Given the description of an element on the screen output the (x, y) to click on. 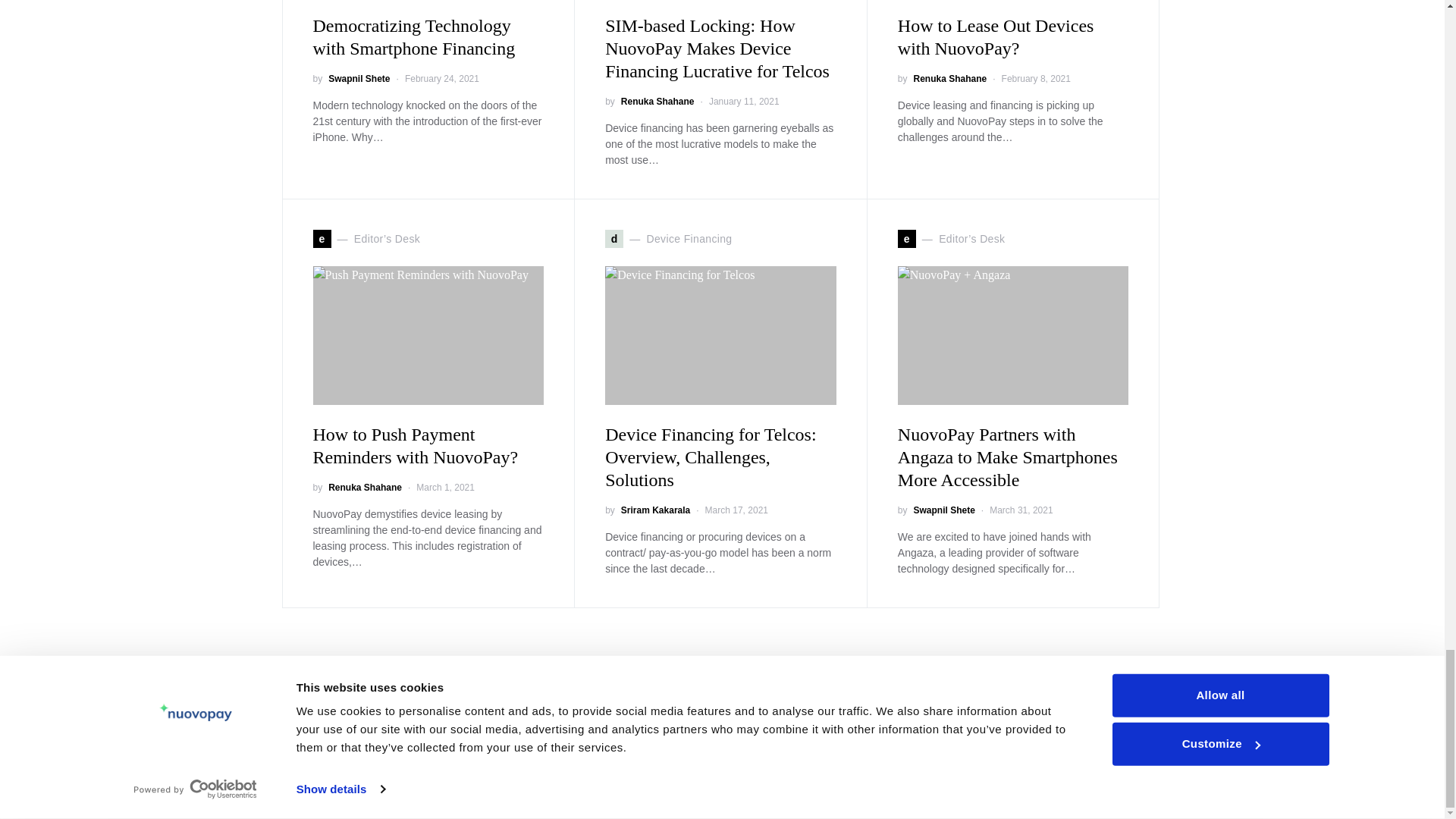
View all posts by Swapnil Shete (943, 509)
View all posts by Renuka Shahane (657, 101)
View all posts by Renuka Shahane (949, 78)
View all posts by Sriram Kakarala (655, 509)
View all posts by Swapnil Shete (359, 78)
View all posts by Renuka Shahane (365, 487)
